Given the description of an element on the screen output the (x, y) to click on. 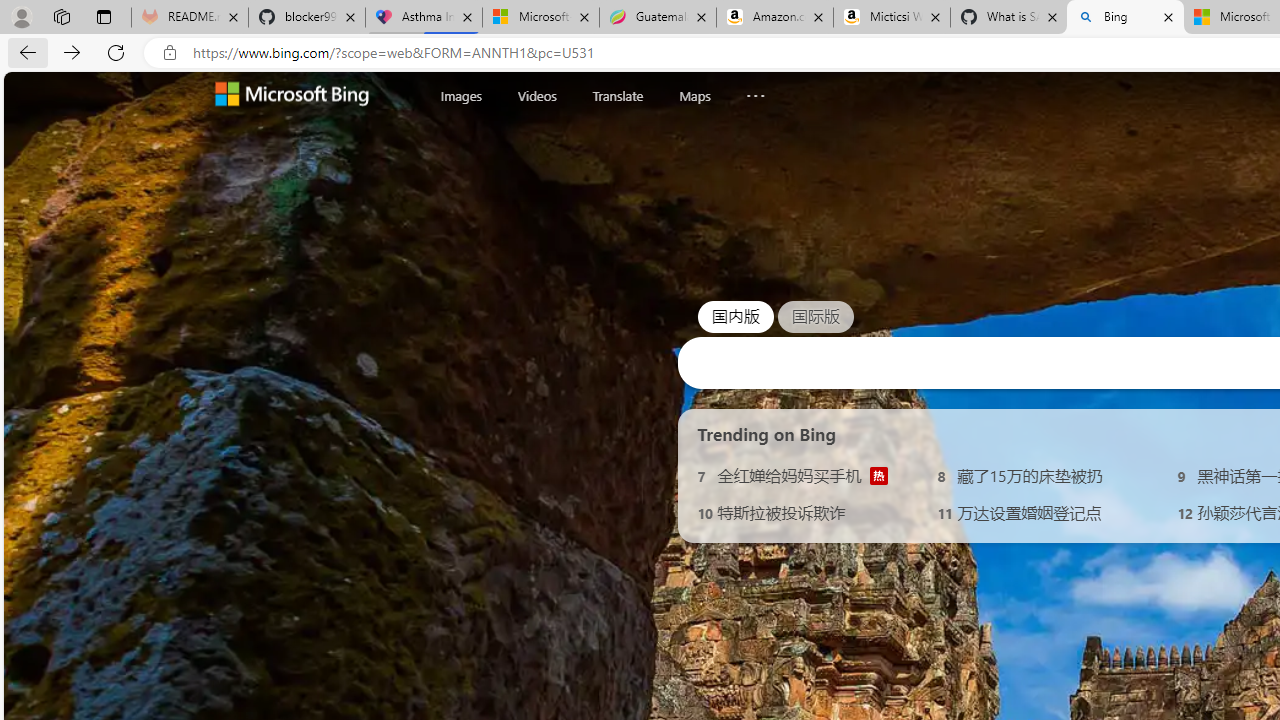
Bing (1124, 17)
Welcome to Bing Search (291, 96)
Videos (536, 95)
Microsoft-Report a Concern to Bing (540, 17)
Forward (72, 52)
Class: scopes  (620, 95)
Images (461, 95)
Translate (617, 95)
